Given the description of an element on the screen output the (x, y) to click on. 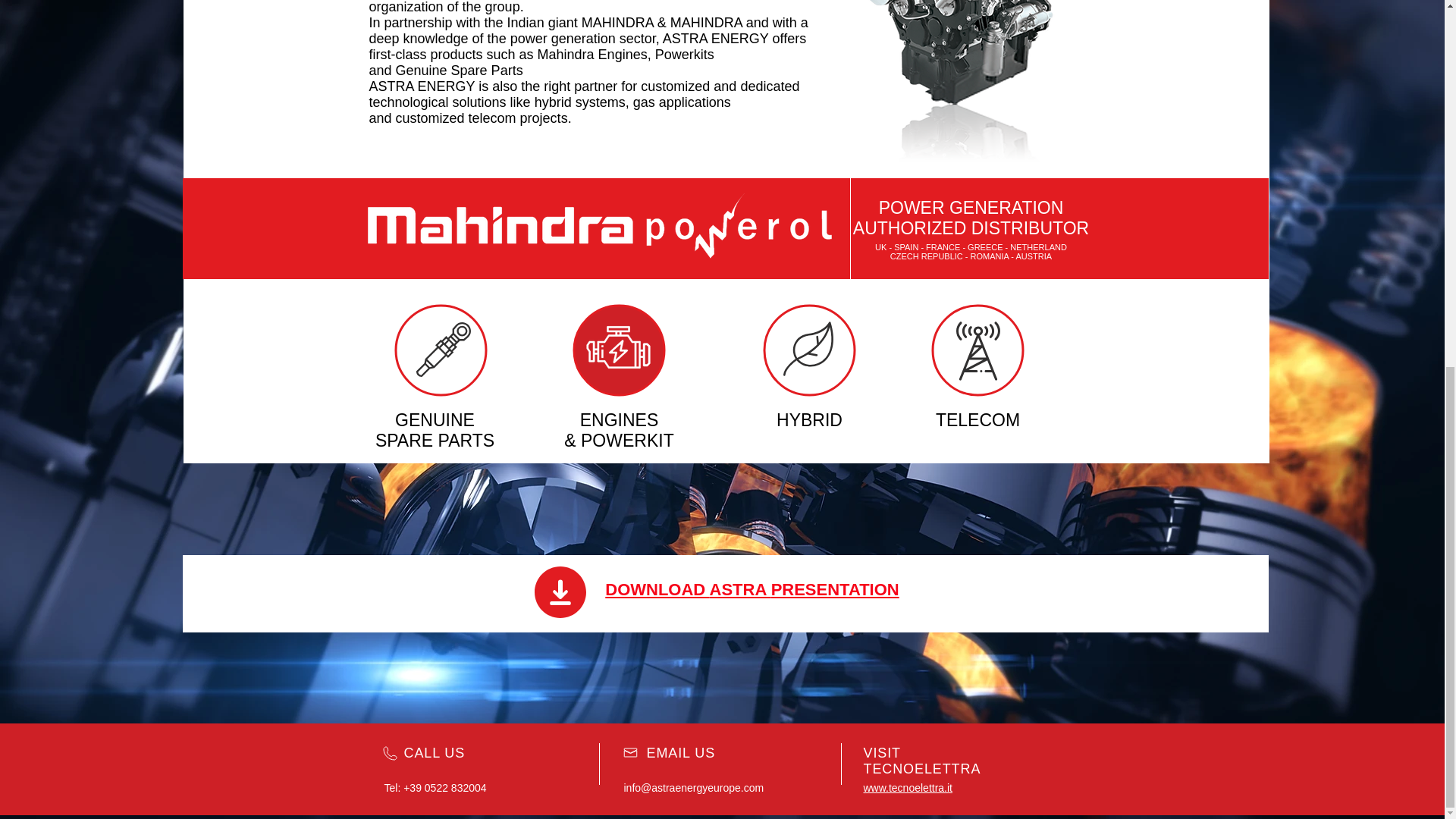
www.tecnoelettra.it (907, 787)
DOWNLOAD ASTRA PRESENTATION (751, 588)
Logo use copia.png (738, 227)
GIA.png (1049, 95)
